Given the description of an element on the screen output the (x, y) to click on. 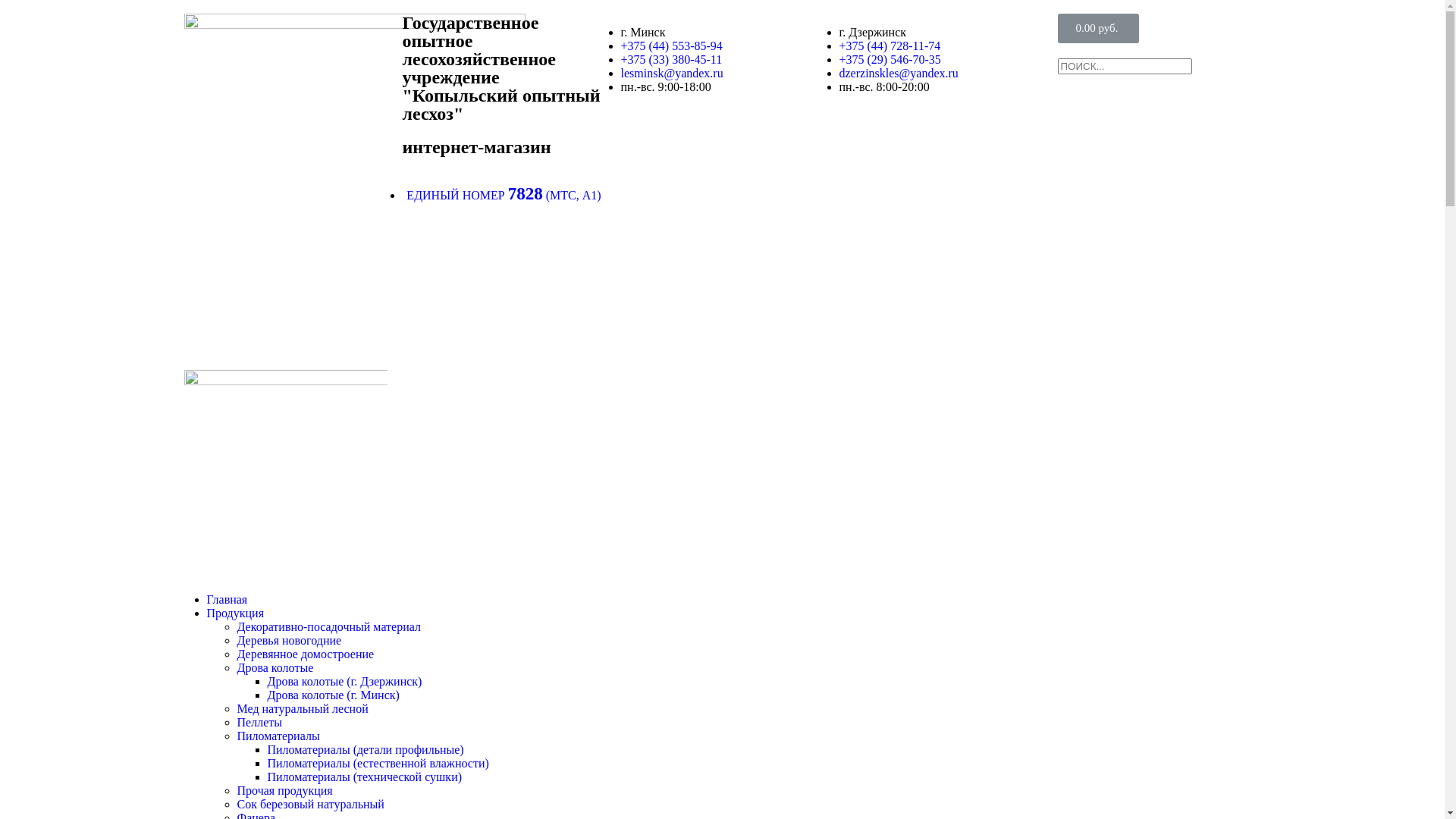
+375 (29) 546-70-35 Element type: text (889, 59)
lesminsk@yandex.ru Element type: text (671, 72)
+375 (33) 380-45-11 Element type: text (670, 59)
dzerzinskles@yandex.ru Element type: text (897, 72)
+375 (44) 728-11-74 Element type: text (889, 45)
+375 (44) 553-85-94 Element type: text (670, 45)
Search Element type: hover (1124, 66)
